Given the description of an element on the screen output the (x, y) to click on. 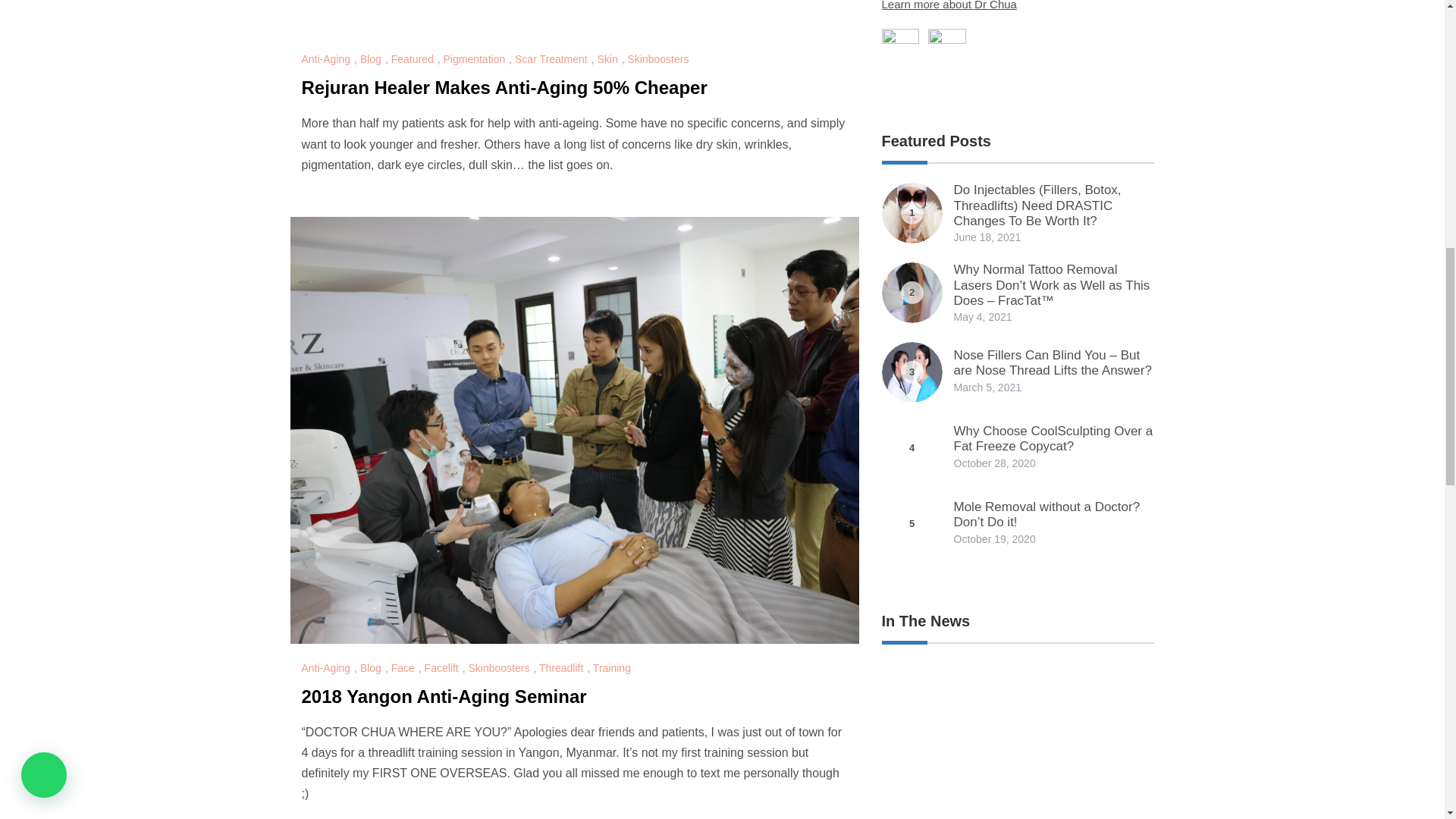
Pigmentation (476, 59)
Blog (372, 59)
Skin (608, 59)
Featured (414, 59)
Anti-Aging (328, 59)
Skinboosters (660, 59)
Scar Treatment (553, 59)
